Given the description of an element on the screen output the (x, y) to click on. 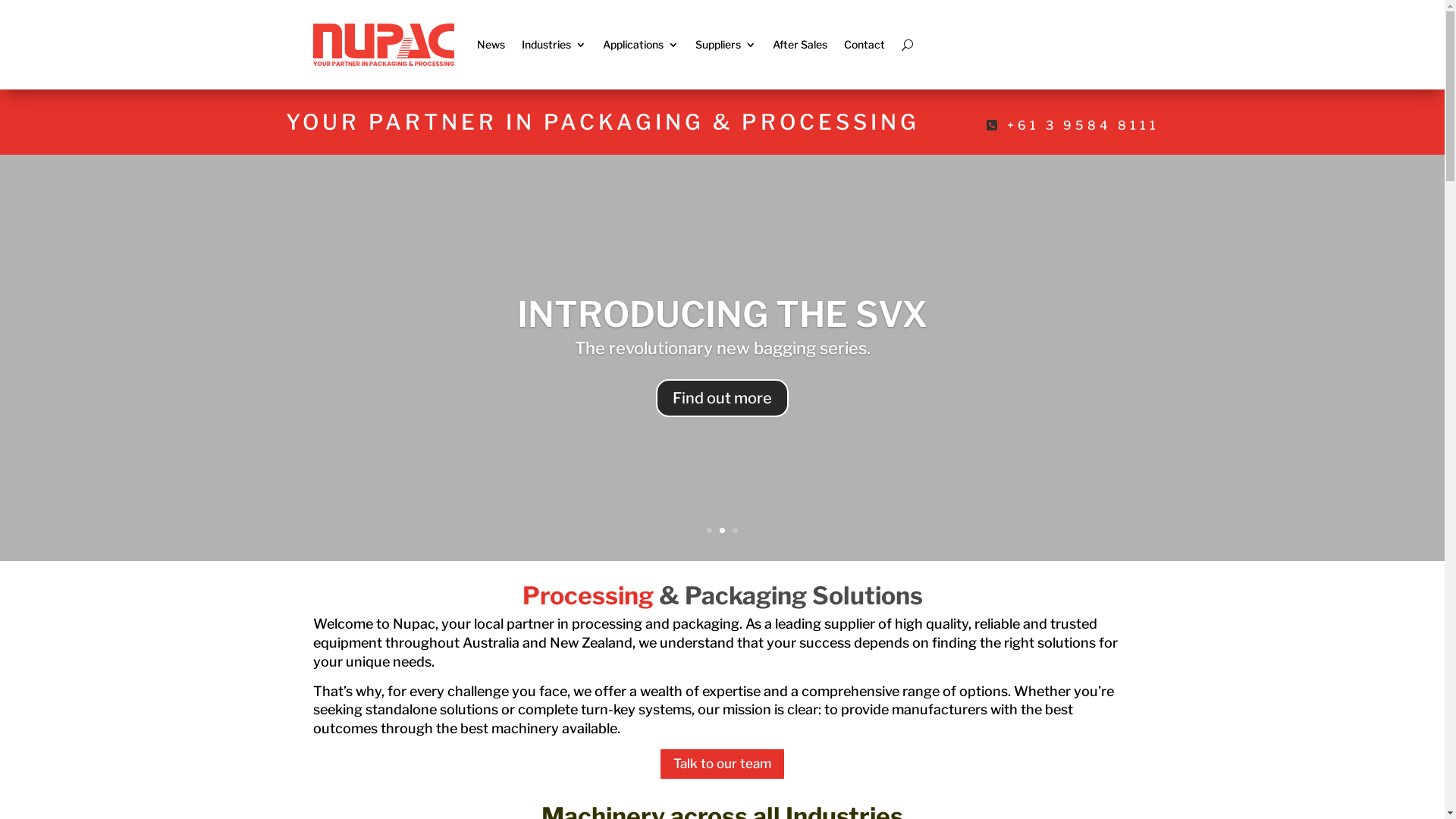
2 Element type: text (721, 530)
Contact Element type: text (863, 44)
Industries Element type: text (553, 44)
3 Element type: text (734, 530)
PACKAGING & PROCESSING Element type: text (721, 314)
Applications Element type: text (639, 44)
News Element type: text (490, 44)
Read more Element type: text (722, 398)
1 Element type: text (709, 530)
Talk to our team Element type: text (721, 763)
After Sales Element type: text (798, 44)
Suppliers Element type: text (724, 44)
